Given the description of an element on the screen output the (x, y) to click on. 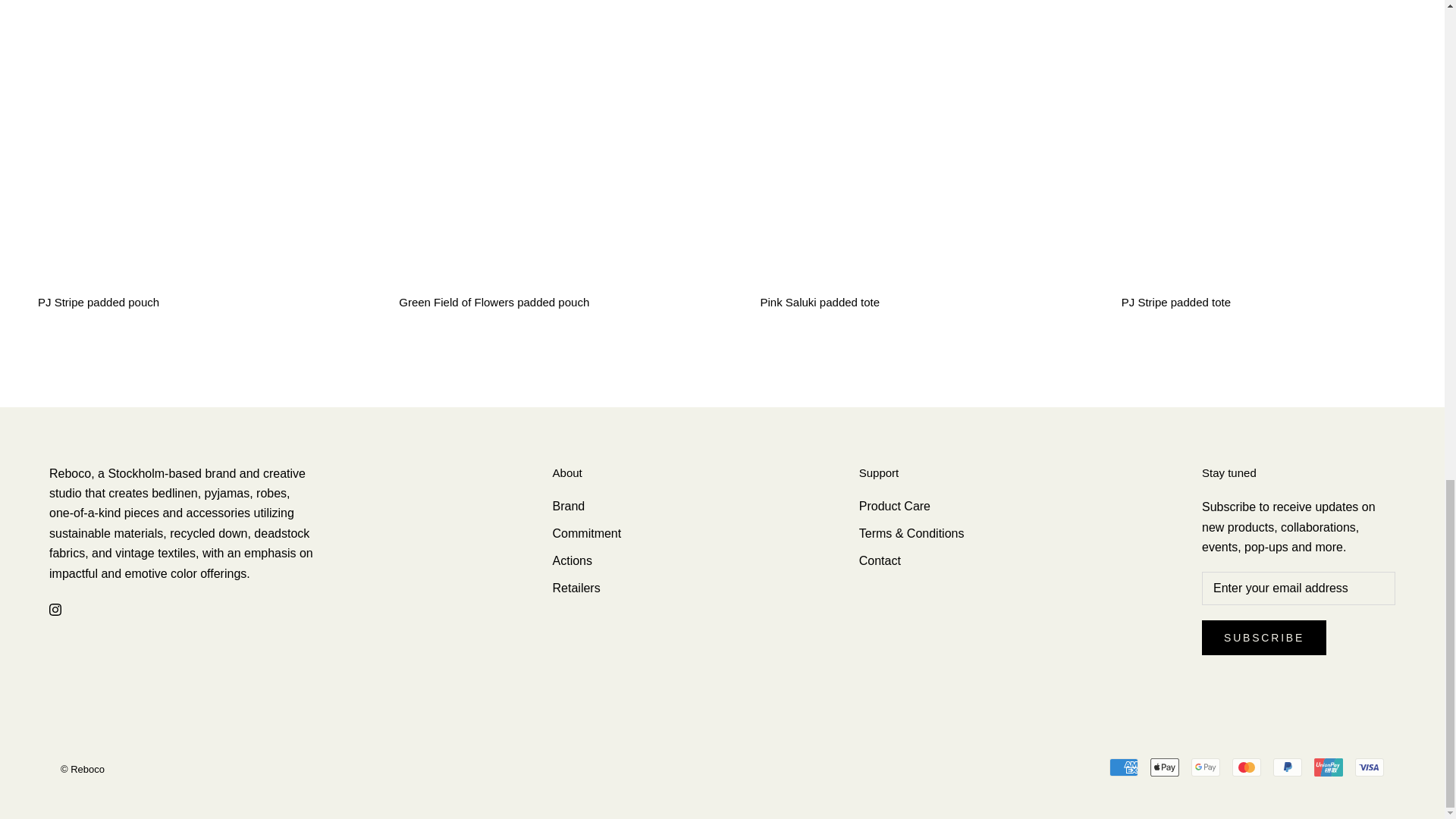
PayPal (1286, 767)
Apple Pay (1164, 767)
Google Pay (1205, 767)
Visa (1369, 767)
American Express (1123, 767)
Union Pay (1328, 767)
Mastercard (1245, 767)
